Given the description of an element on the screen output the (x, y) to click on. 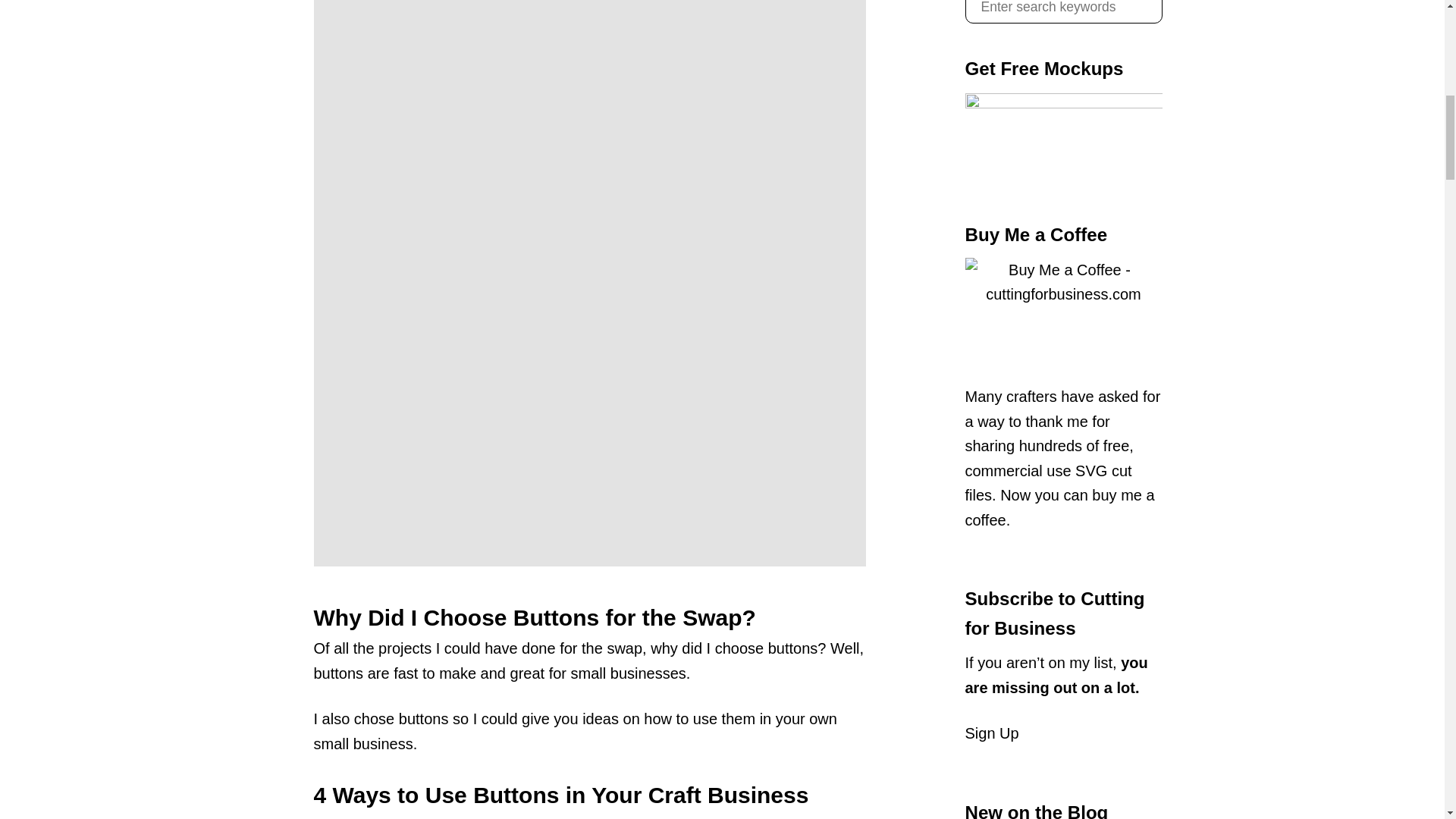
Sign Up (990, 733)
buy me a coffee (1058, 507)
Get Free Mockups (1062, 139)
Search for: (1062, 11)
